Given the description of an element on the screen output the (x, y) to click on. 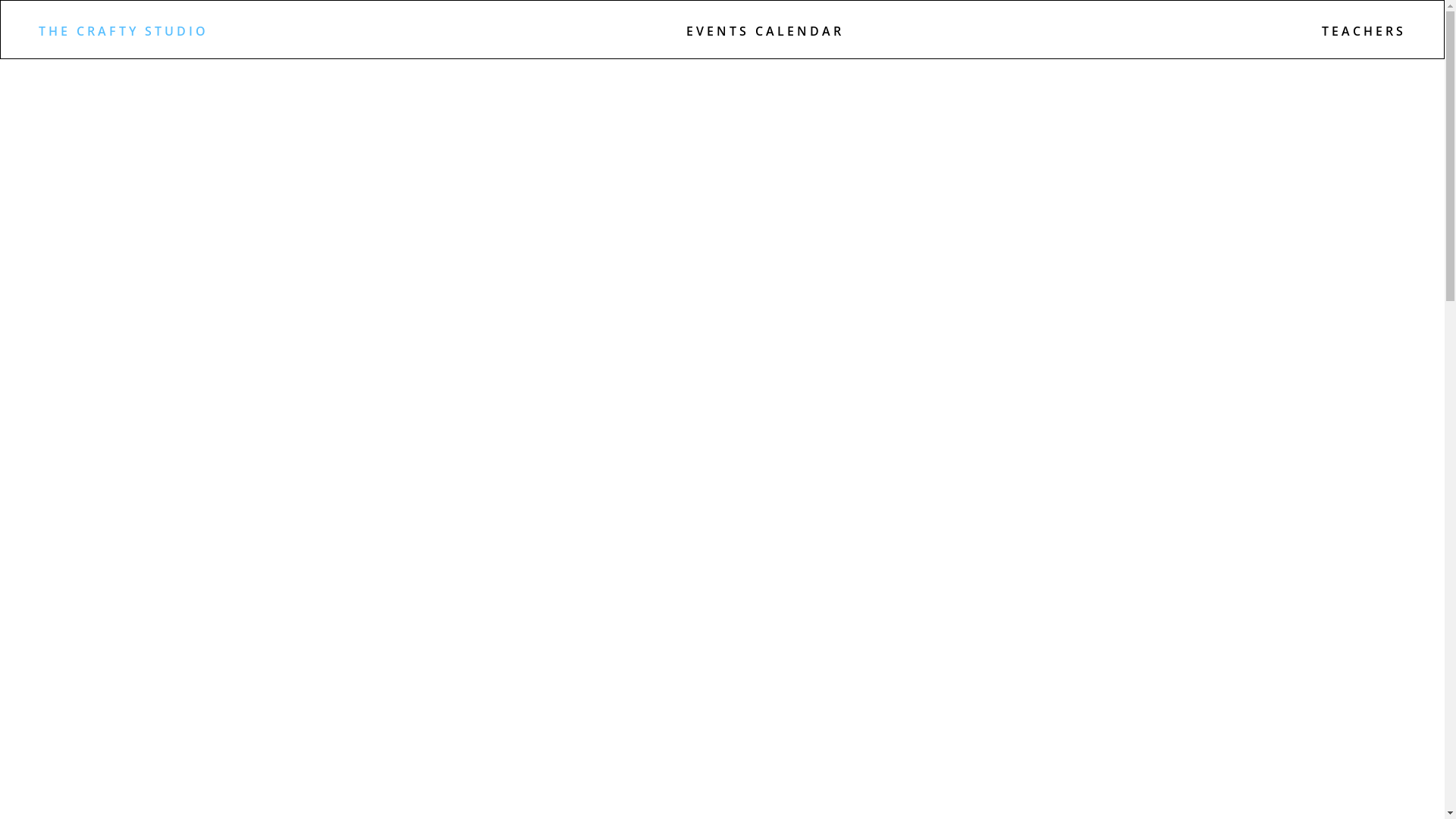
EVENTS CALENDAR Element type: text (765, 41)
THE CRAFTY STUDIO Element type: text (123, 41)
TEACHERS Element type: text (1363, 41)
